Given the description of an element on the screen output the (x, y) to click on. 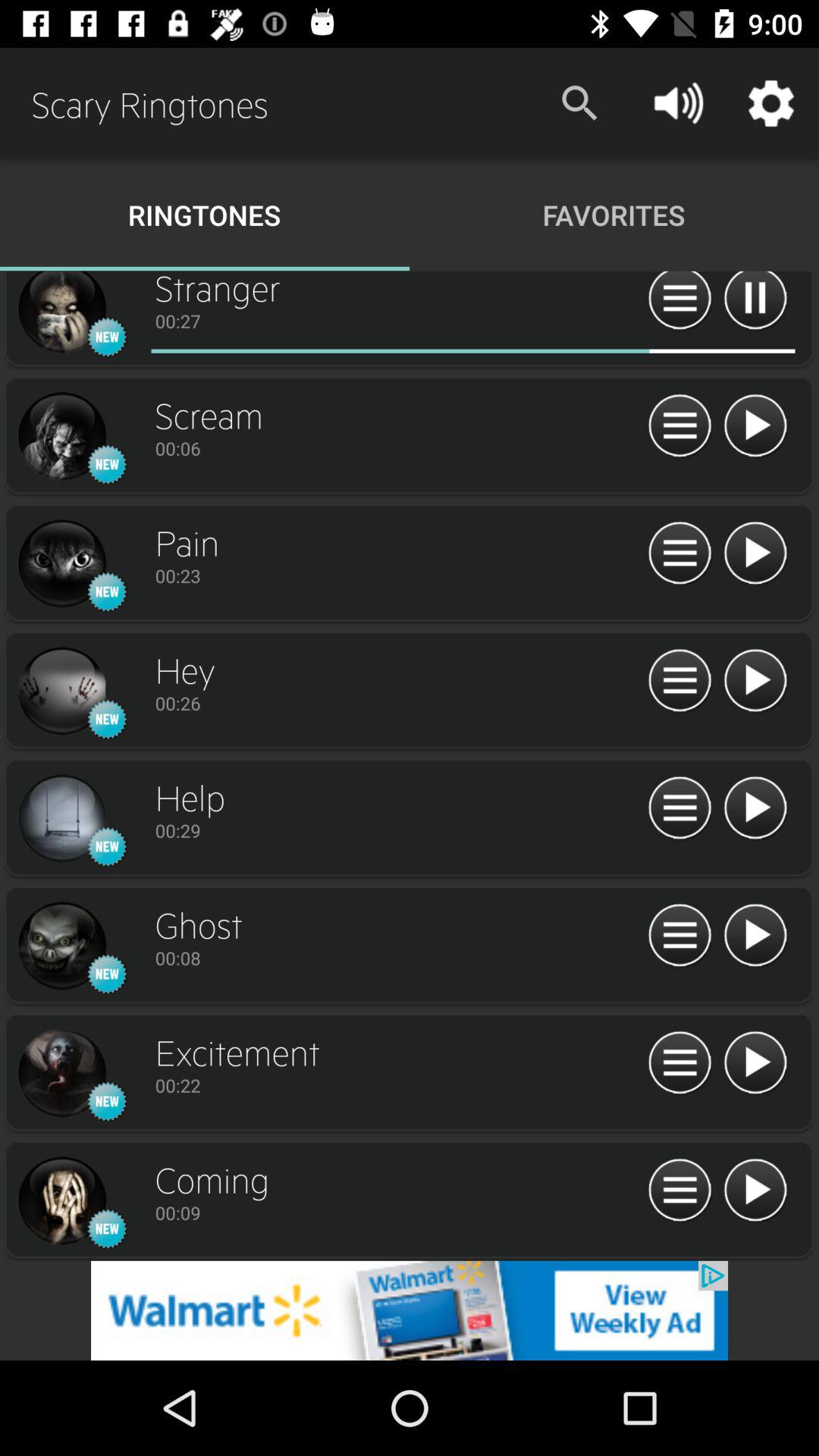
button image (679, 1190)
